Given the description of an element on the screen output the (x, y) to click on. 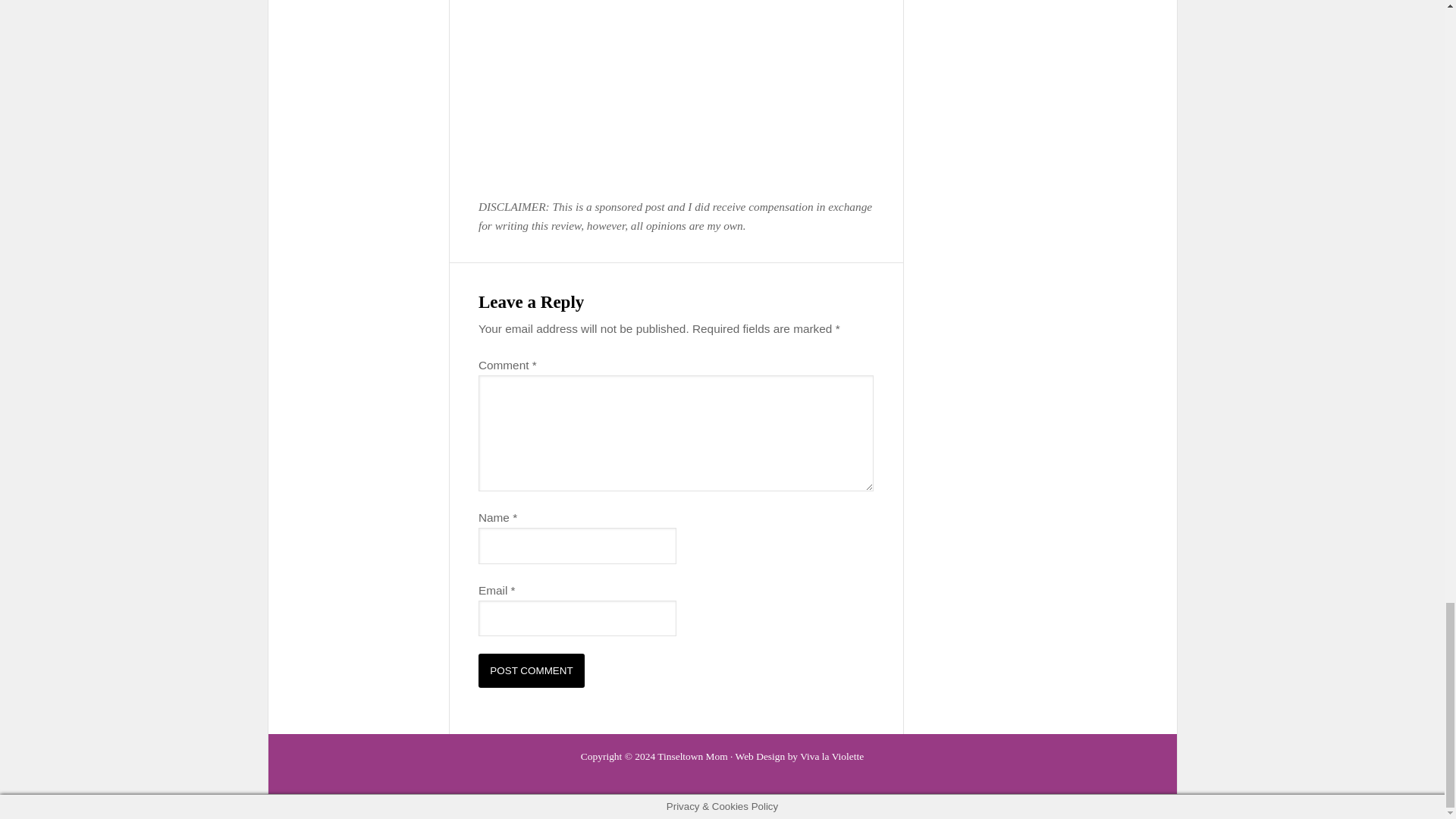
Post Comment (532, 670)
Post Comment (532, 670)
